Given the description of an element on the screen output the (x, y) to click on. 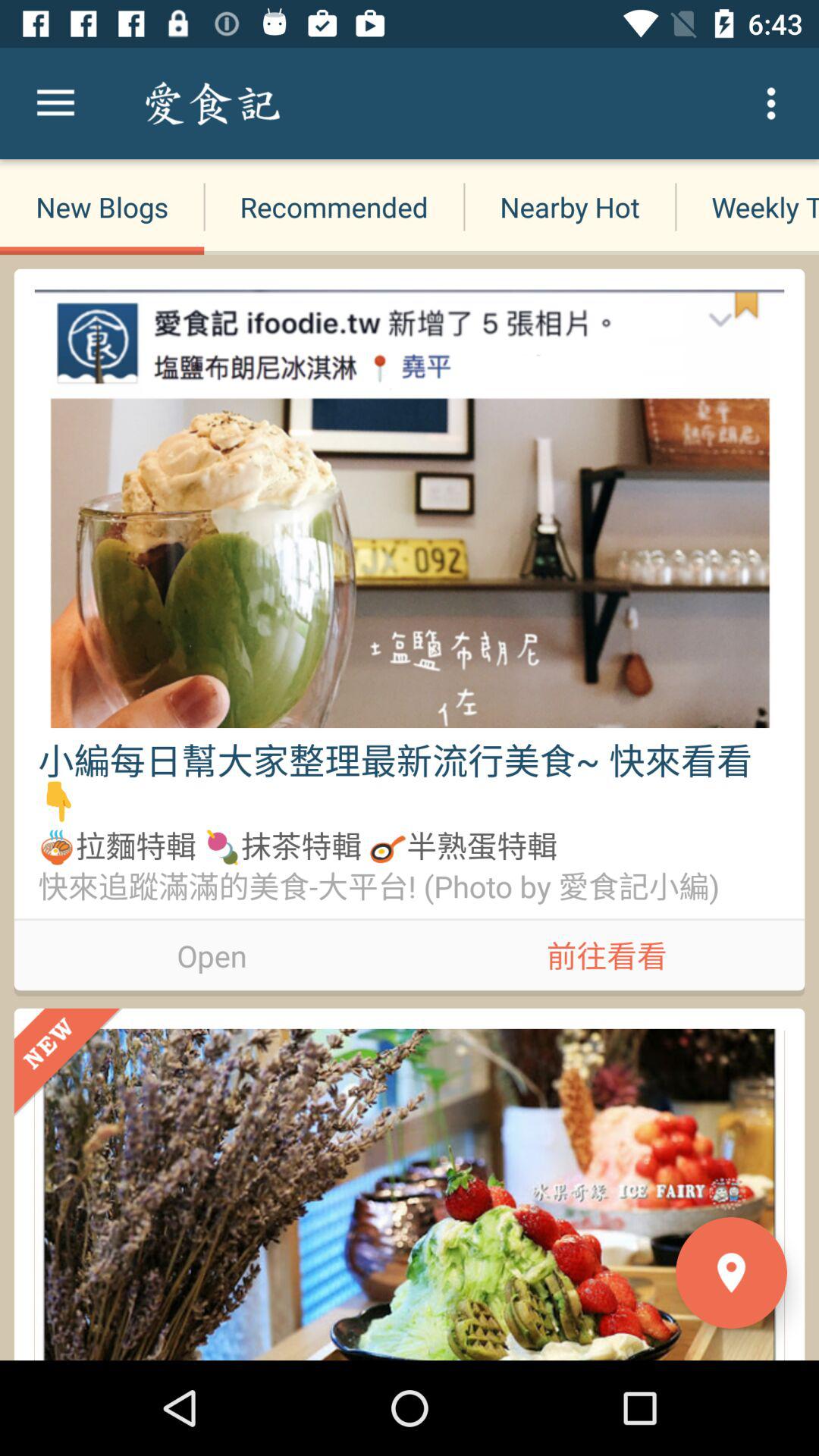
open icon next to nearby hot (747, 206)
